Given the description of an element on the screen output the (x, y) to click on. 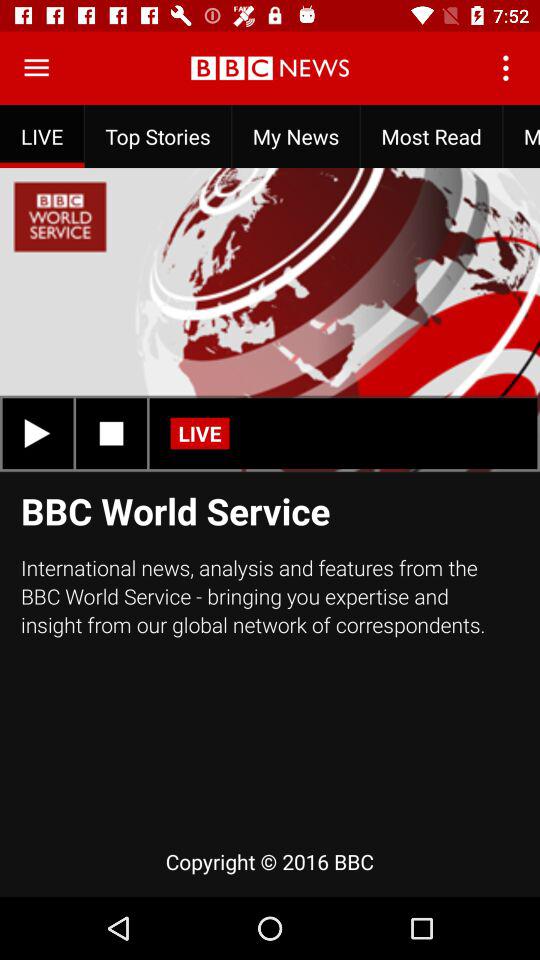
short cut to home (36, 68)
